Given the description of an element on the screen output the (x, y) to click on. 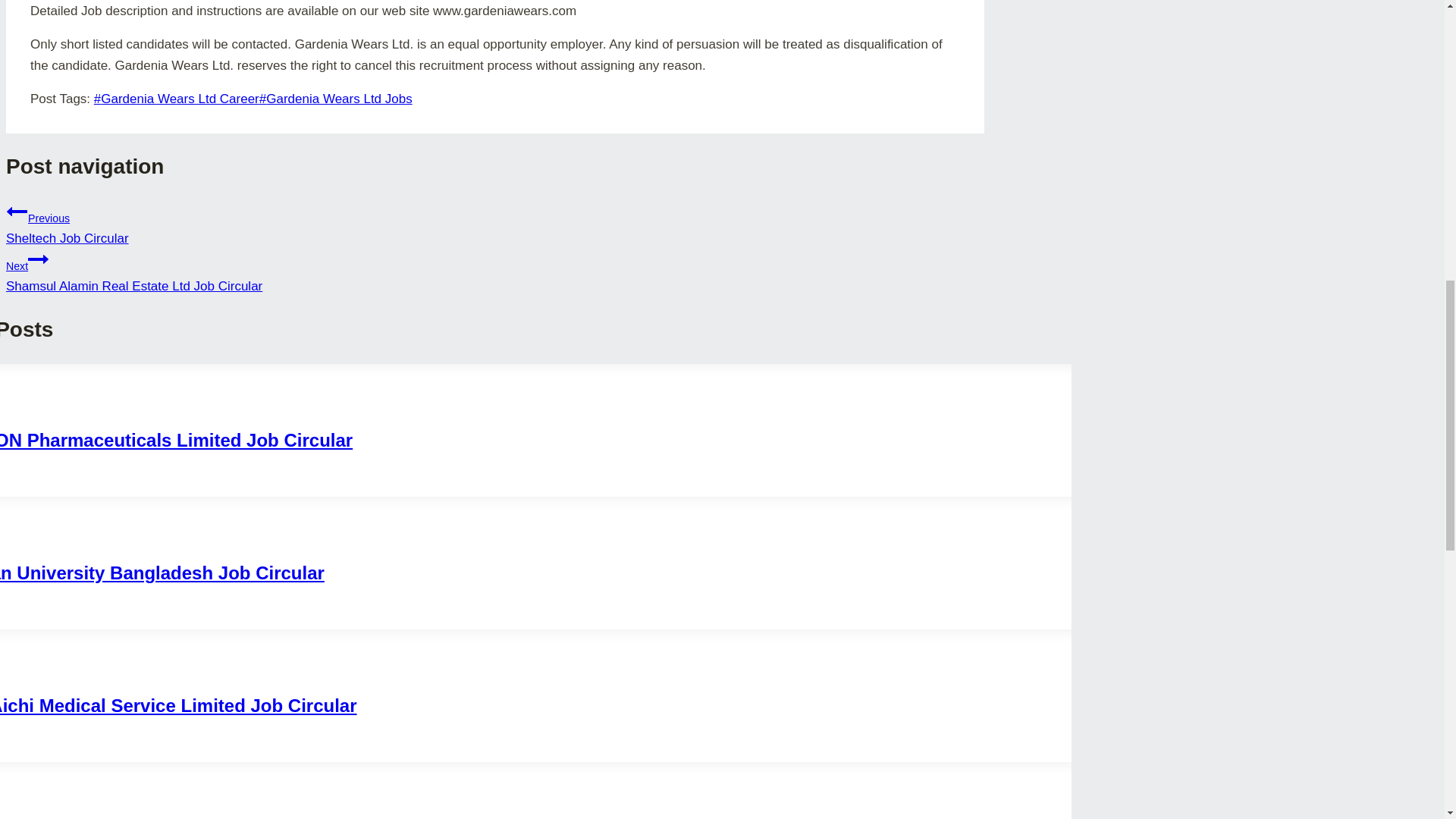
BEACON Pharmaceuticals Limited Job Circular (176, 439)
SHIP Aichi Medical Service Limited Job Circular (494, 270)
German University Bangladesh Job Circular (178, 705)
Gardenia Wears Ltd Jobs (162, 572)
Previous (494, 221)
Gardenia Wears Ltd Career (335, 98)
Continue (16, 210)
